Given the description of an element on the screen output the (x, y) to click on. 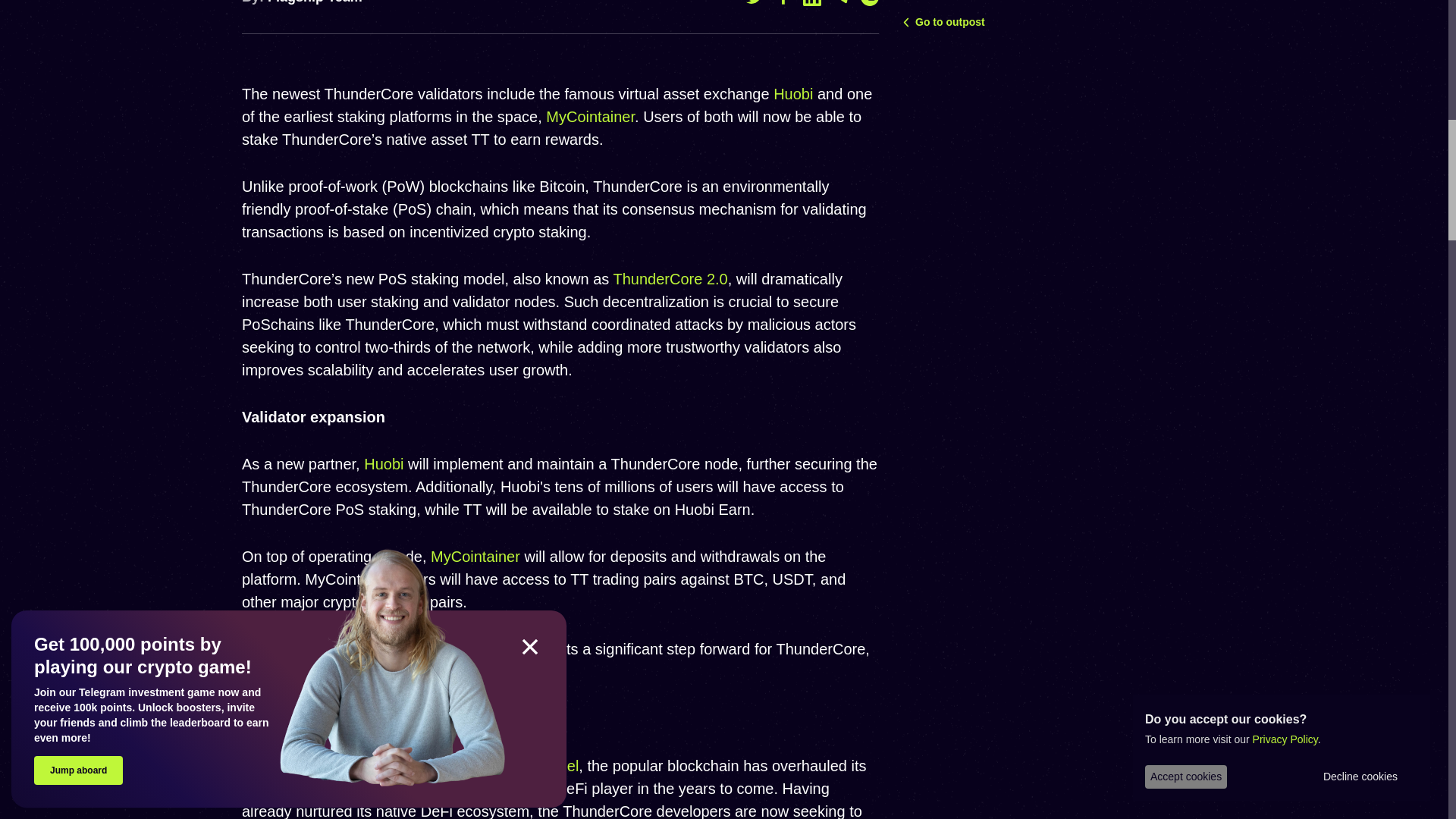
ThunderCore 2.0 PoS staking model (456, 765)
Huobi (383, 463)
By: Flagship Team (301, 2)
ThunderCore 2.0 (670, 279)
MyCointainer (590, 116)
Huobi (792, 93)
MyCointainer (474, 556)
